Given the description of an element on the screen output the (x, y) to click on. 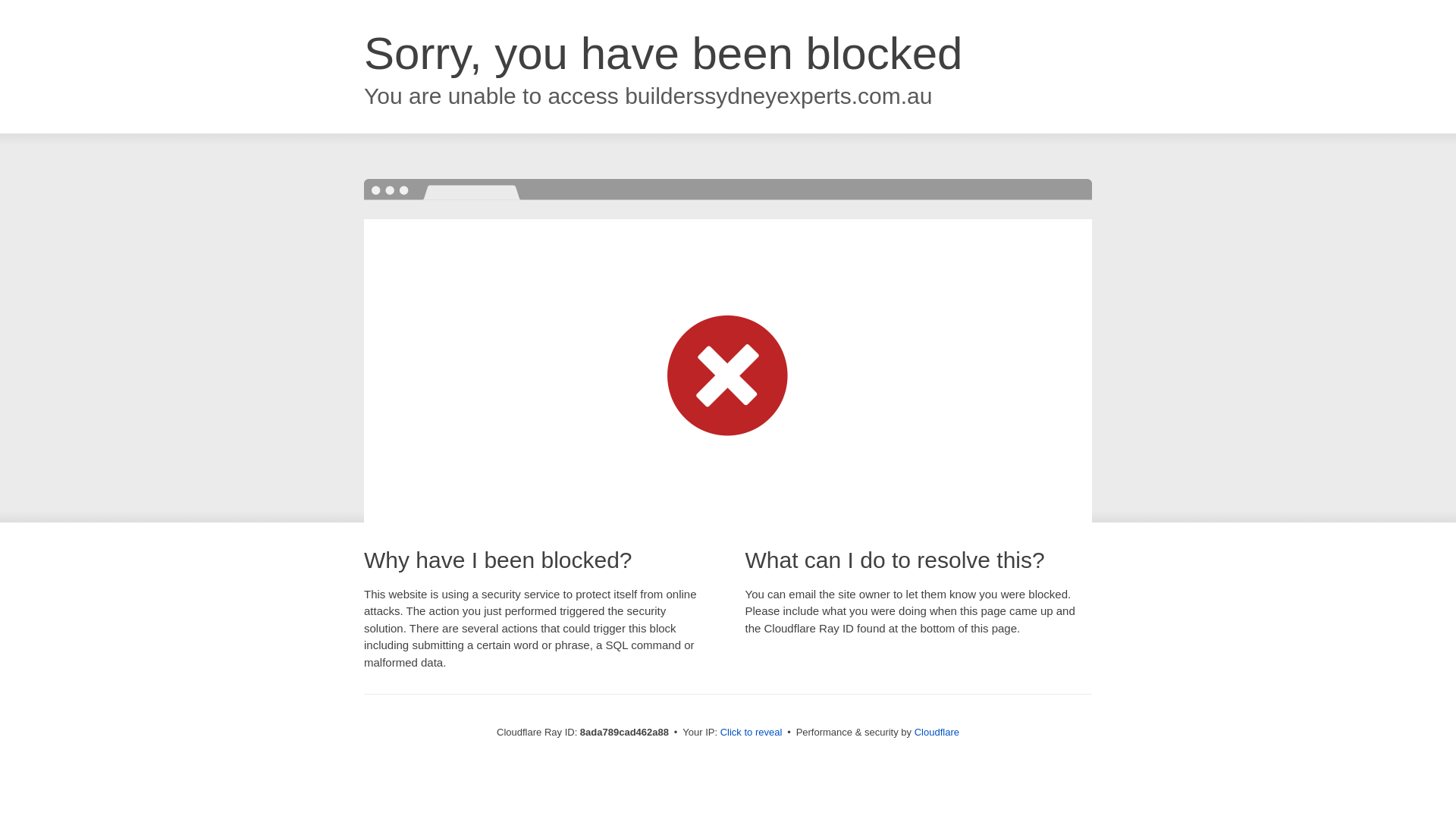
Click to reveal (751, 732)
Cloudflare (936, 731)
